Given the description of an element on the screen output the (x, y) to click on. 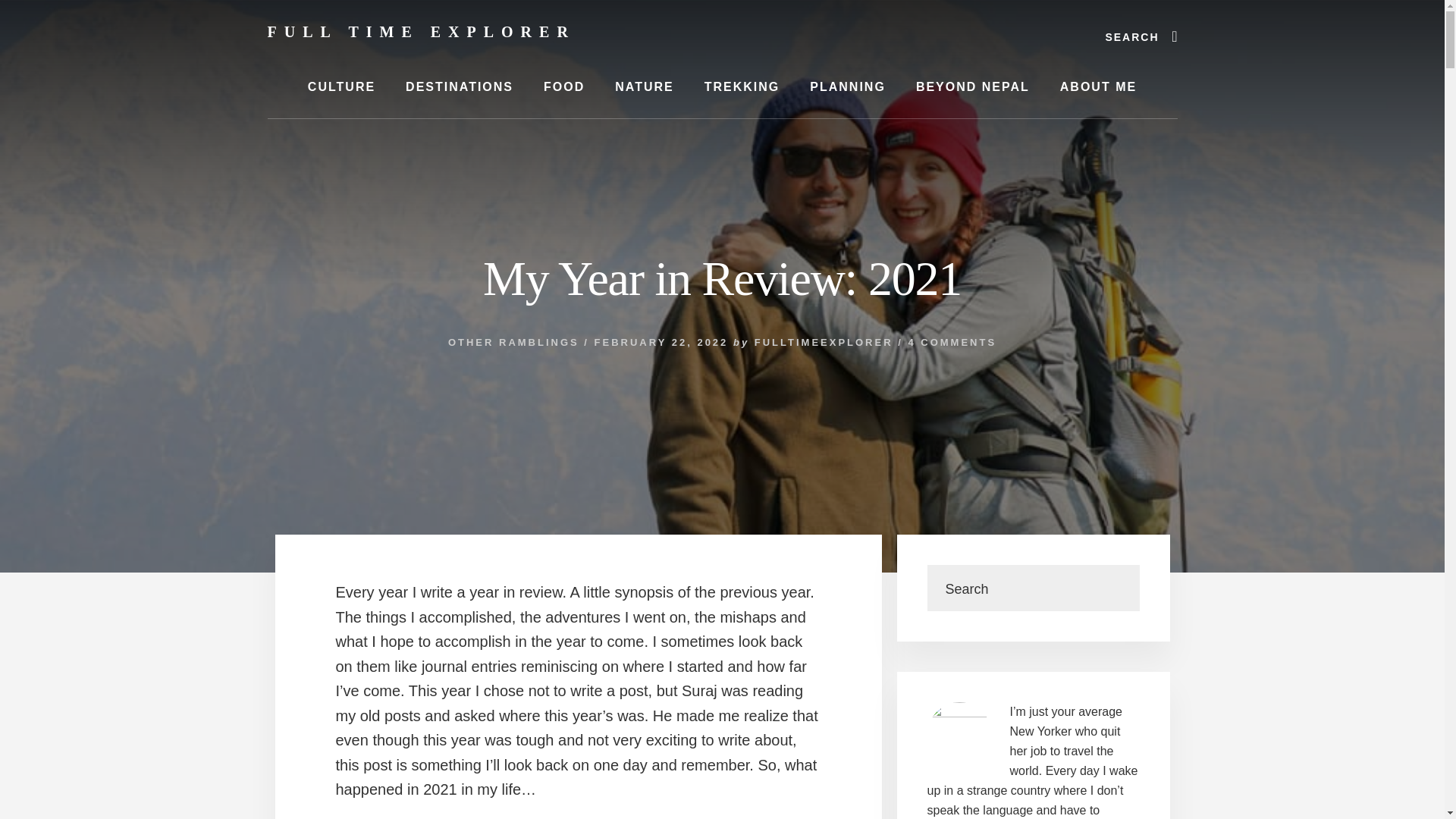
FULL TIME EXPLORER (420, 31)
NATURE (643, 86)
CULTURE (341, 86)
FOOD (563, 86)
DESTINATIONS (459, 86)
